Given the description of an element on the screen output the (x, y) to click on. 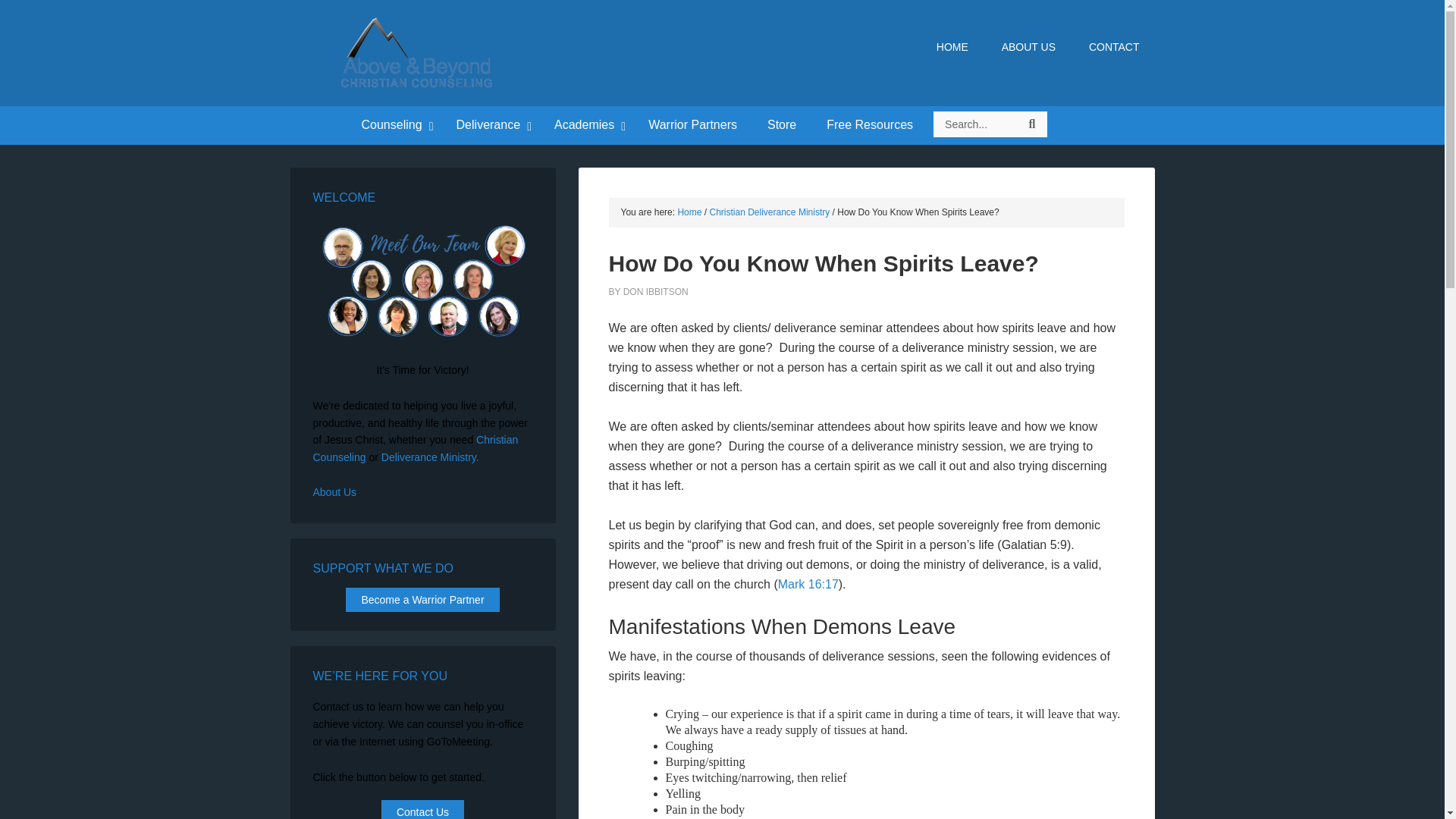
Academies (585, 125)
ABOUT US (1028, 46)
Store (781, 125)
Free Resources (869, 125)
Christian Deliverance Ministry (769, 212)
Counseling (393, 125)
Become a Warrior Partner (422, 599)
HOME (952, 46)
Mark 16:17 (807, 584)
Deliverance Ministry. (430, 457)
